Given the description of an element on the screen output the (x, y) to click on. 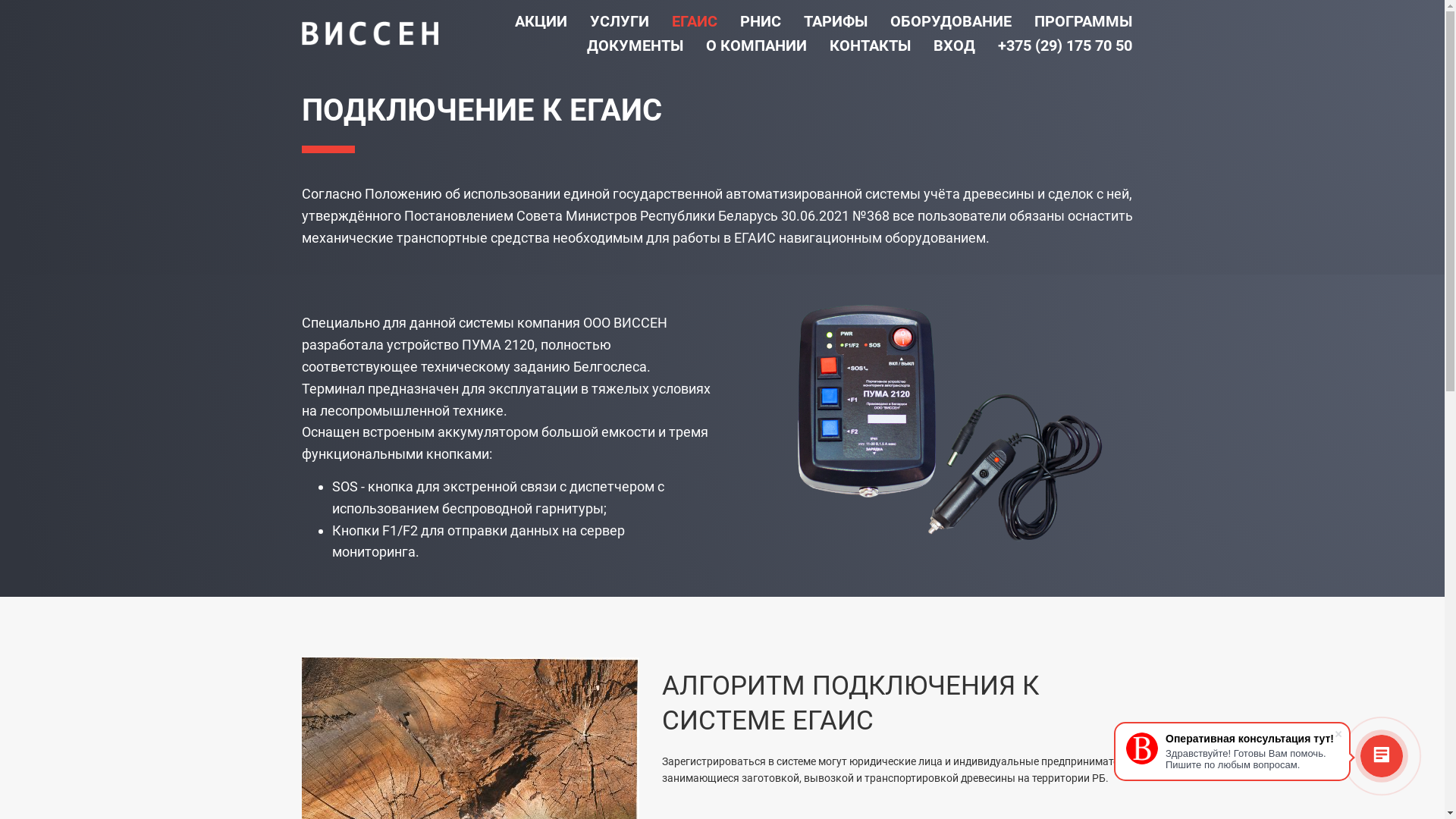
+375 (29) 175 70 50 Element type: text (1064, 45)
